Given the description of an element on the screen output the (x, y) to click on. 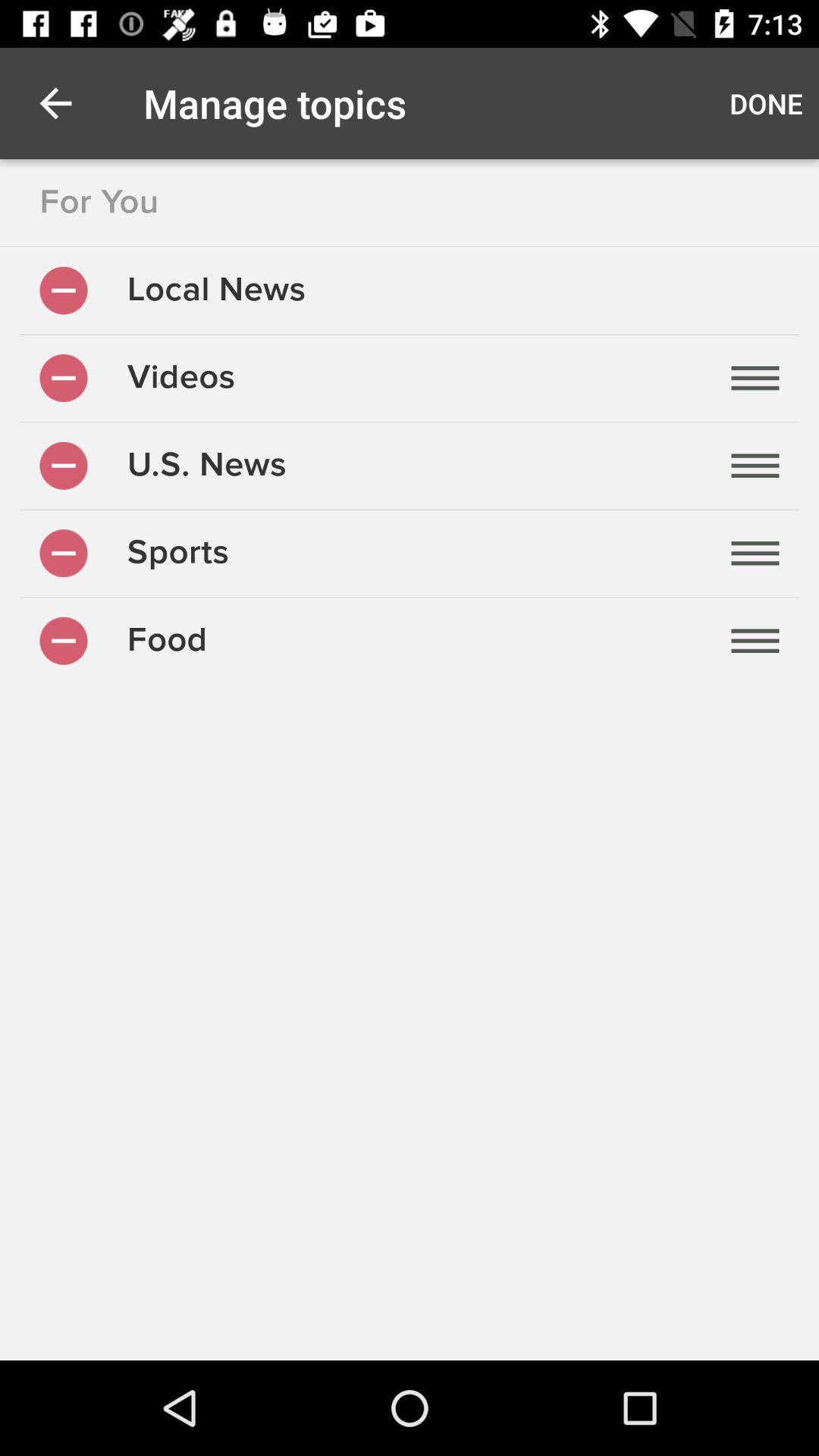
remove the local news (63, 290)
